Given the description of an element on the screen output the (x, y) to click on. 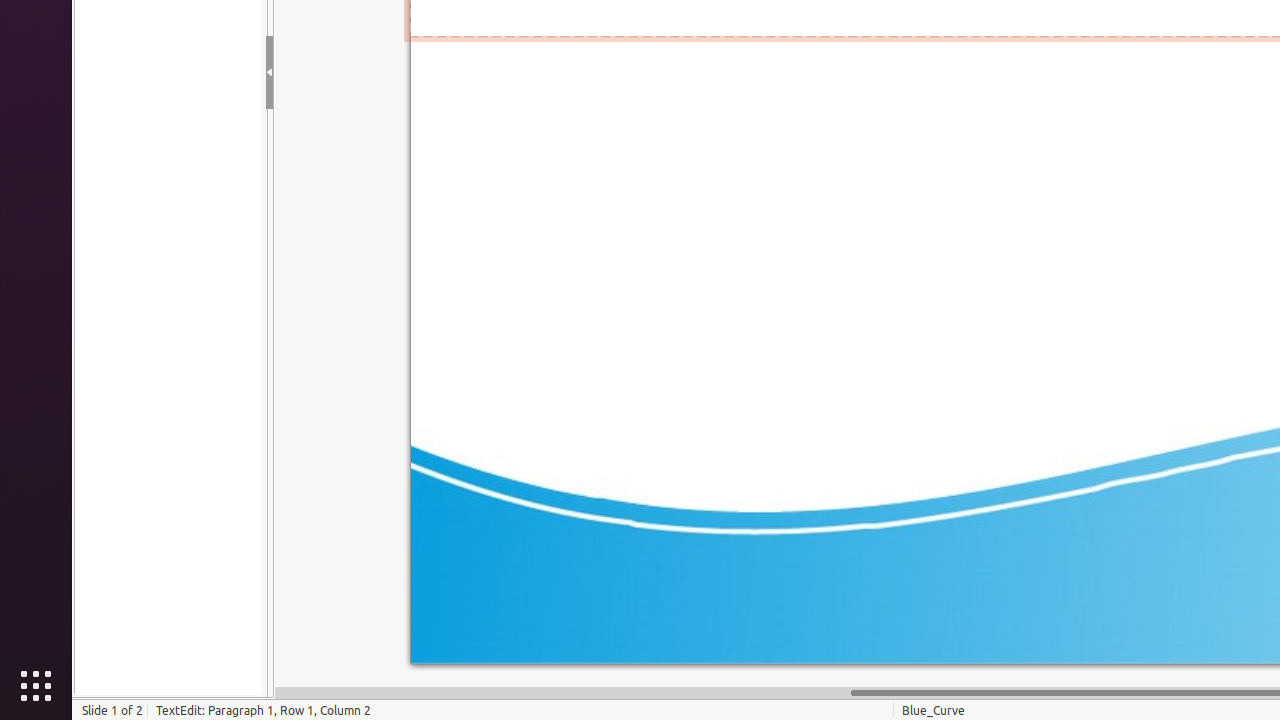
Show Applications Element type: toggle-button (36, 686)
